Given the description of an element on the screen output the (x, y) to click on. 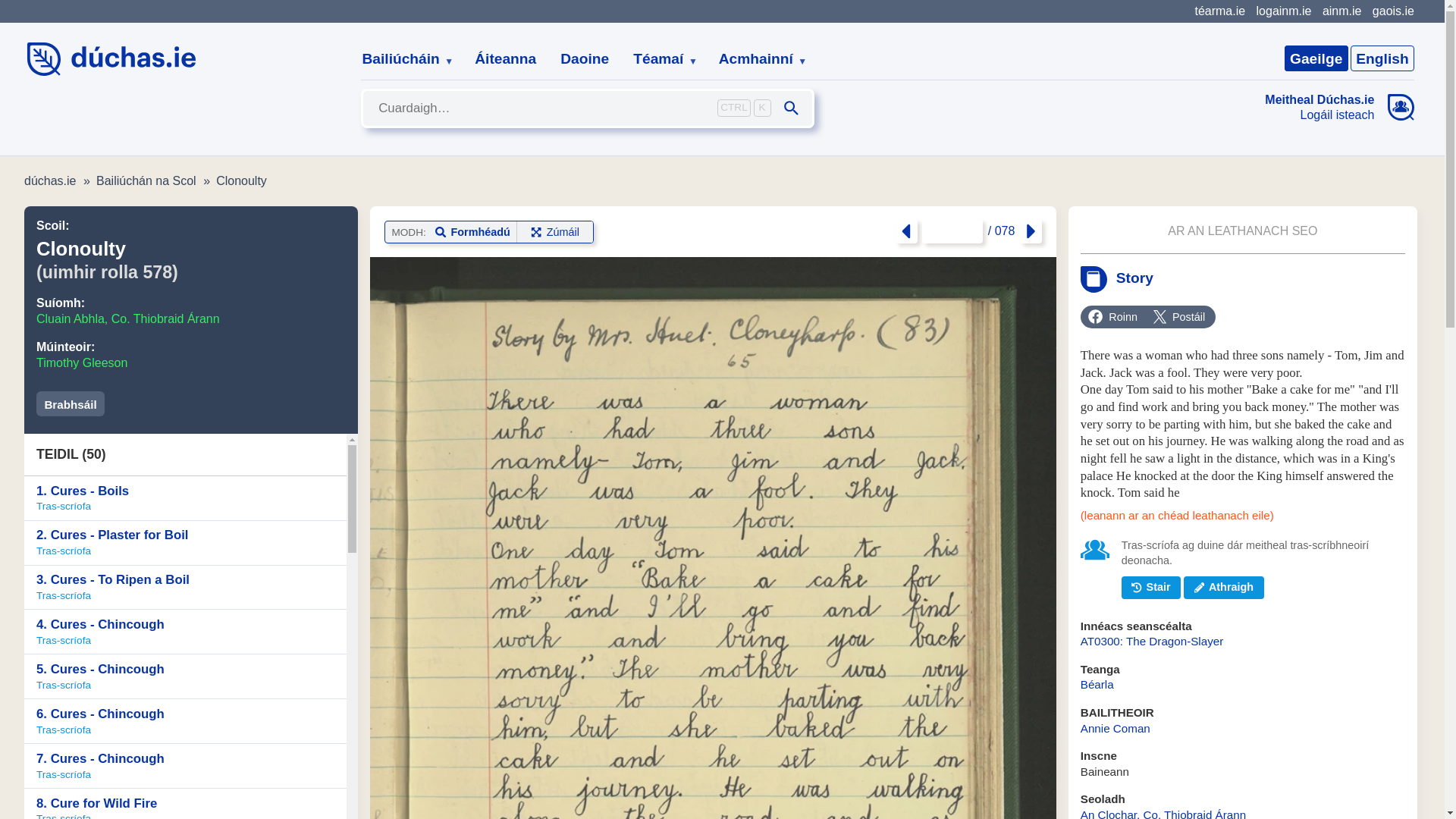
Clonoulty (240, 180)
gaois.ie (1393, 11)
English (1382, 58)
logainm.ie (1283, 11)
Timothy Gleeson (82, 362)
Gaeilge (1316, 58)
ainm.ie (1341, 11)
Daoine (584, 58)
